Given the description of an element on the screen output the (x, y) to click on. 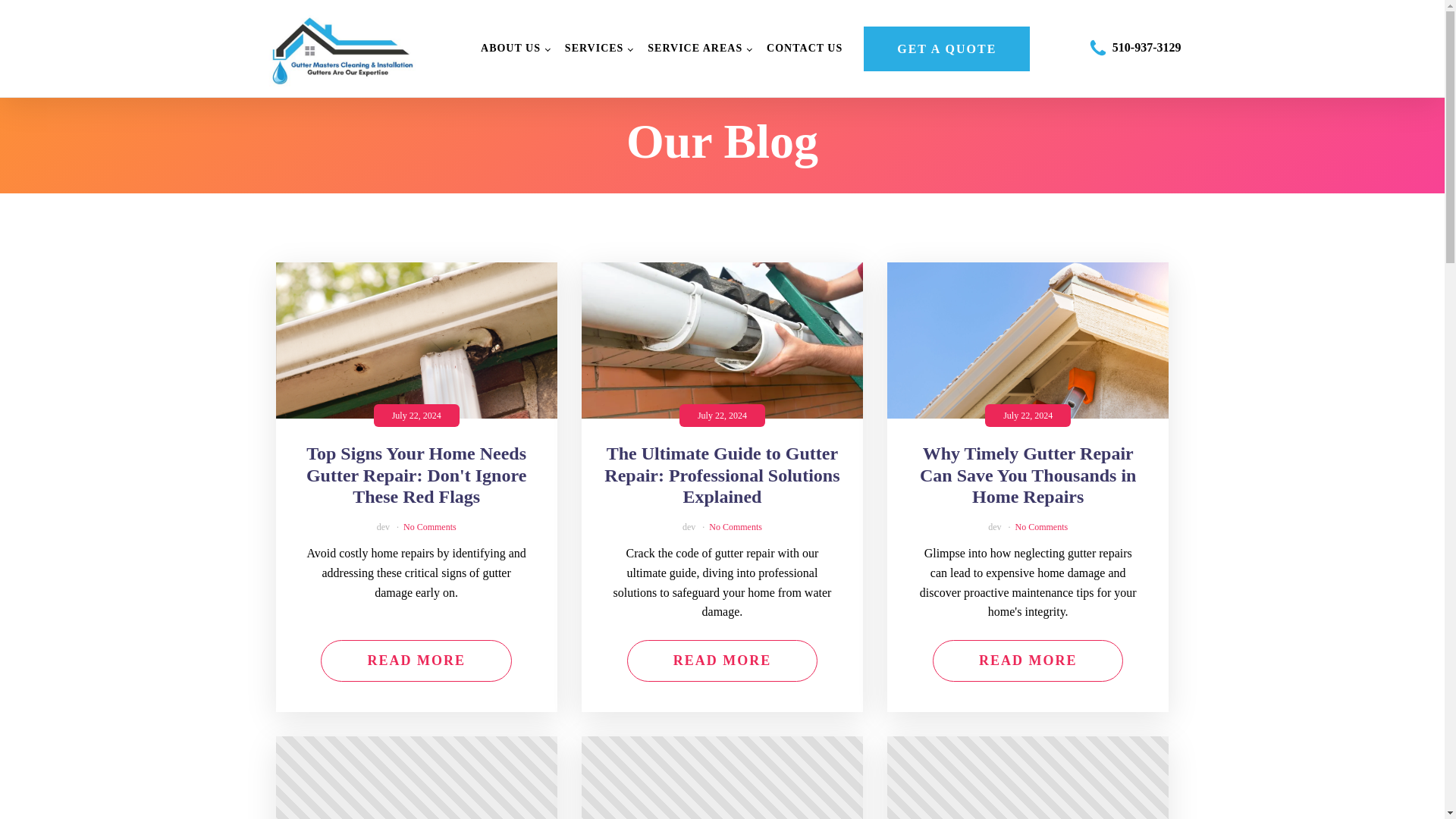
July 22, 2024 (416, 340)
No Comments (735, 526)
READ MORE (722, 660)
SERVICES (598, 48)
CONTACT US (804, 48)
July 22, 2024 (1027, 340)
READ MORE (1028, 660)
SERVICE AREAS (699, 48)
July 22, 2024 (721, 340)
GET A QUOTE (946, 48)
No Comments (1041, 526)
July 22, 2024 (416, 777)
